Given the description of an element on the screen output the (x, y) to click on. 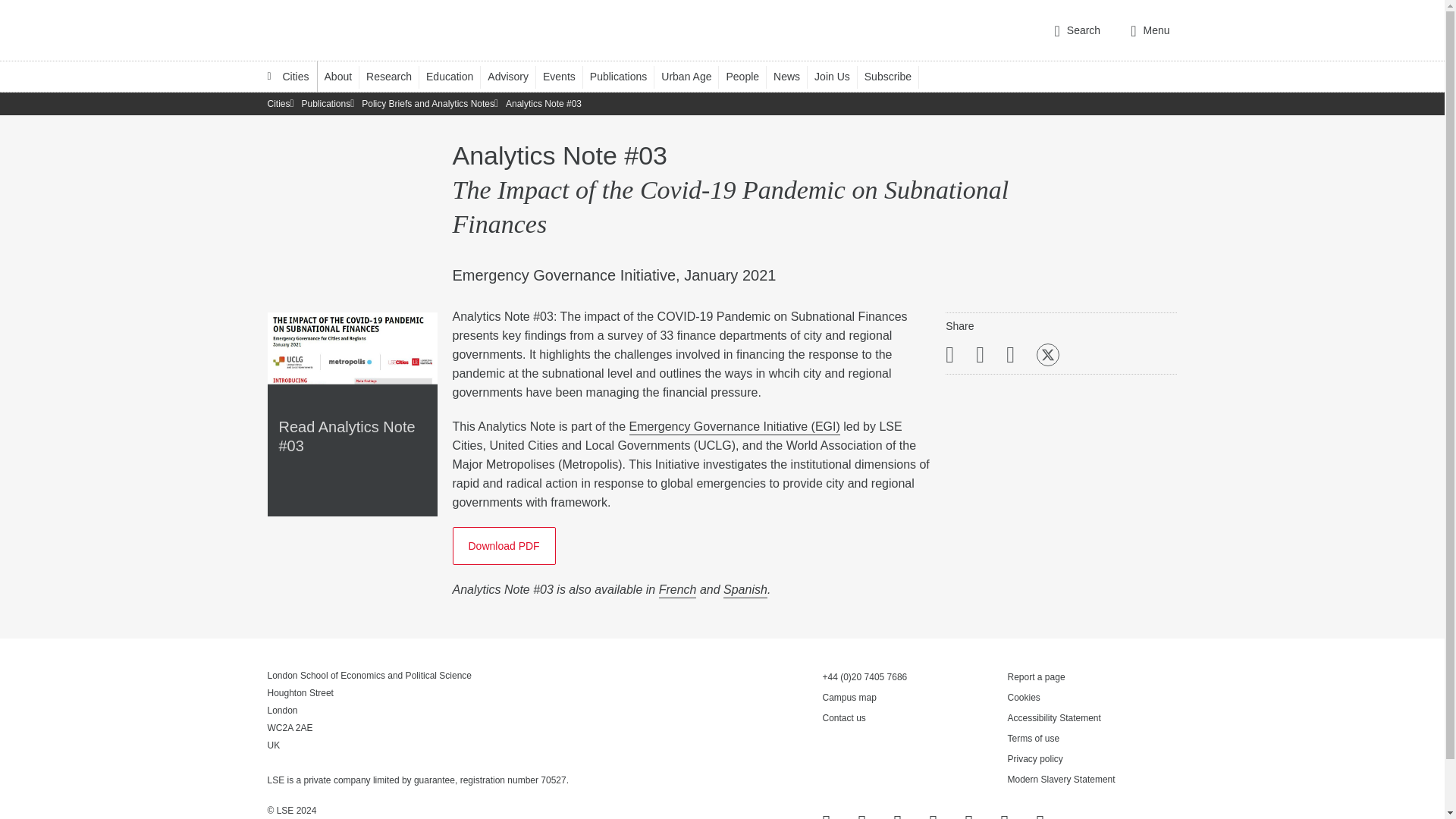
People (749, 76)
LSE Cities (288, 76)
News (793, 76)
Events (566, 76)
News (793, 76)
Menu (1150, 30)
Publications (625, 76)
Cities (288, 76)
Join Us (838, 76)
Advisory (515, 76)
